Given the description of an element on the screen output the (x, y) to click on. 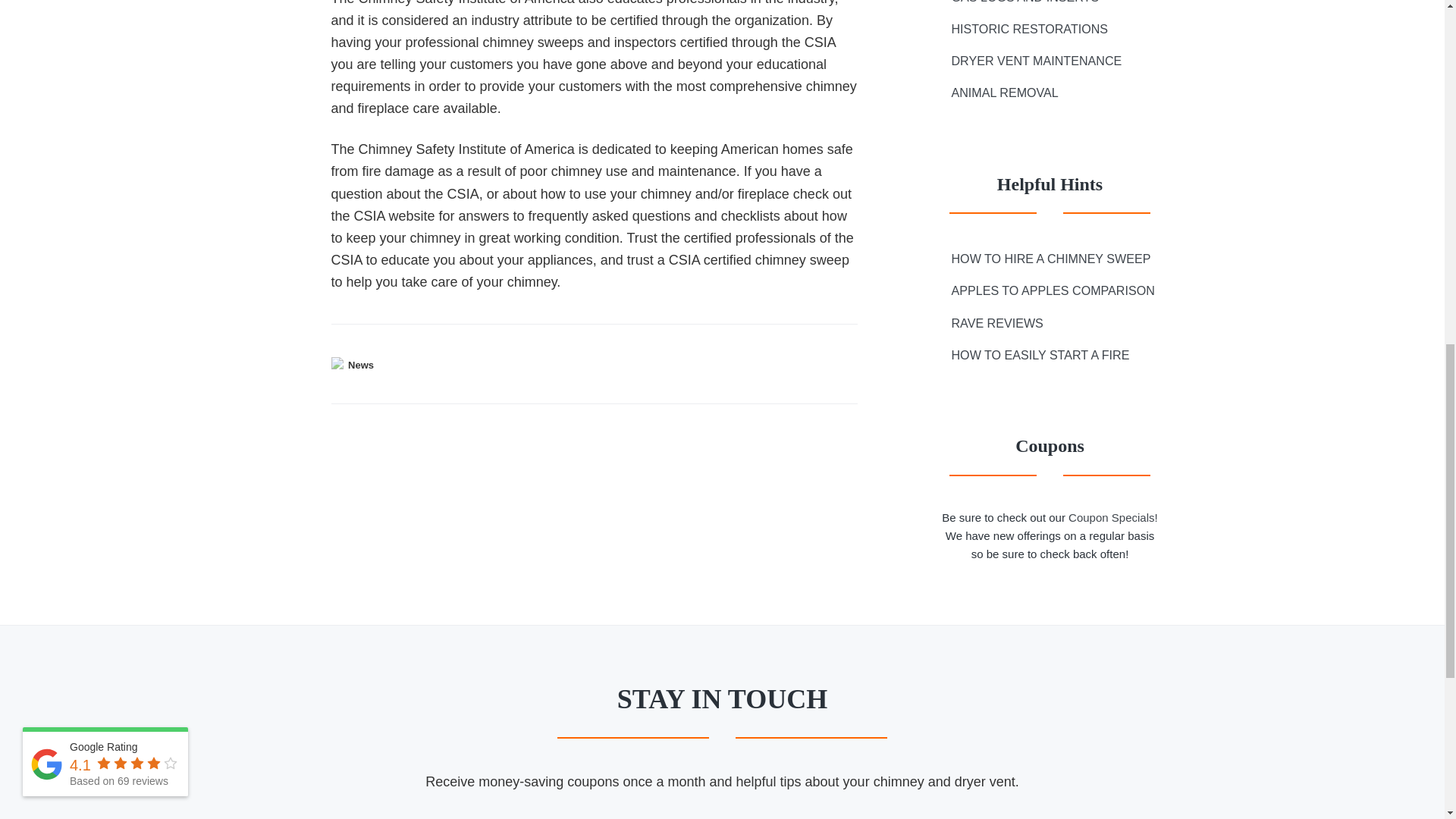
HISTORIC RESTORATIONS (1029, 28)
News (360, 365)
GAS LOGS AND INSERTS (1024, 4)
